Given the description of an element on the screen output the (x, y) to click on. 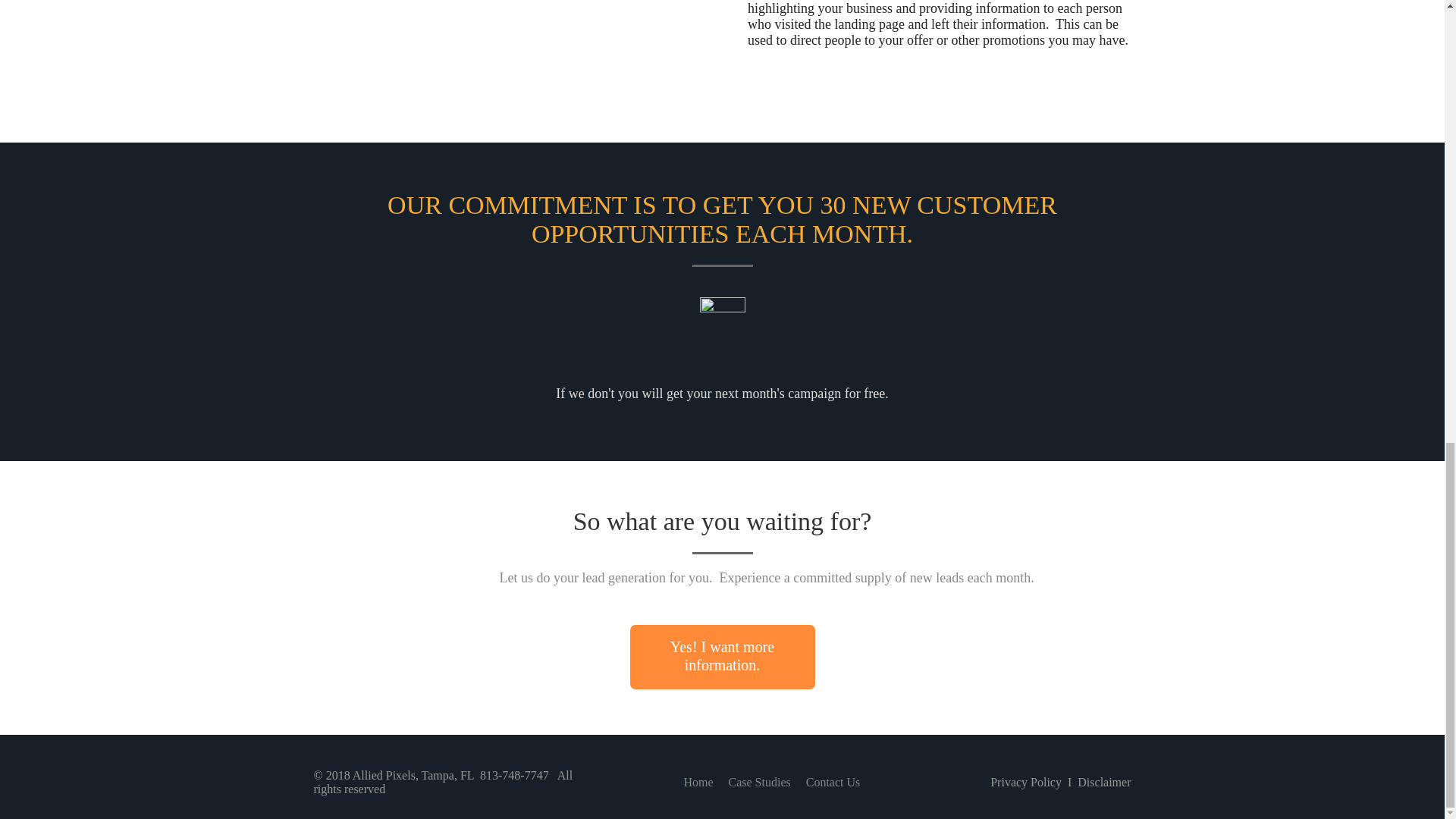
Yes! I want more information. (720, 656)
Home (697, 782)
Contact Us (833, 782)
Case Studies (759, 782)
